Given the description of an element on the screen output the (x, y) to click on. 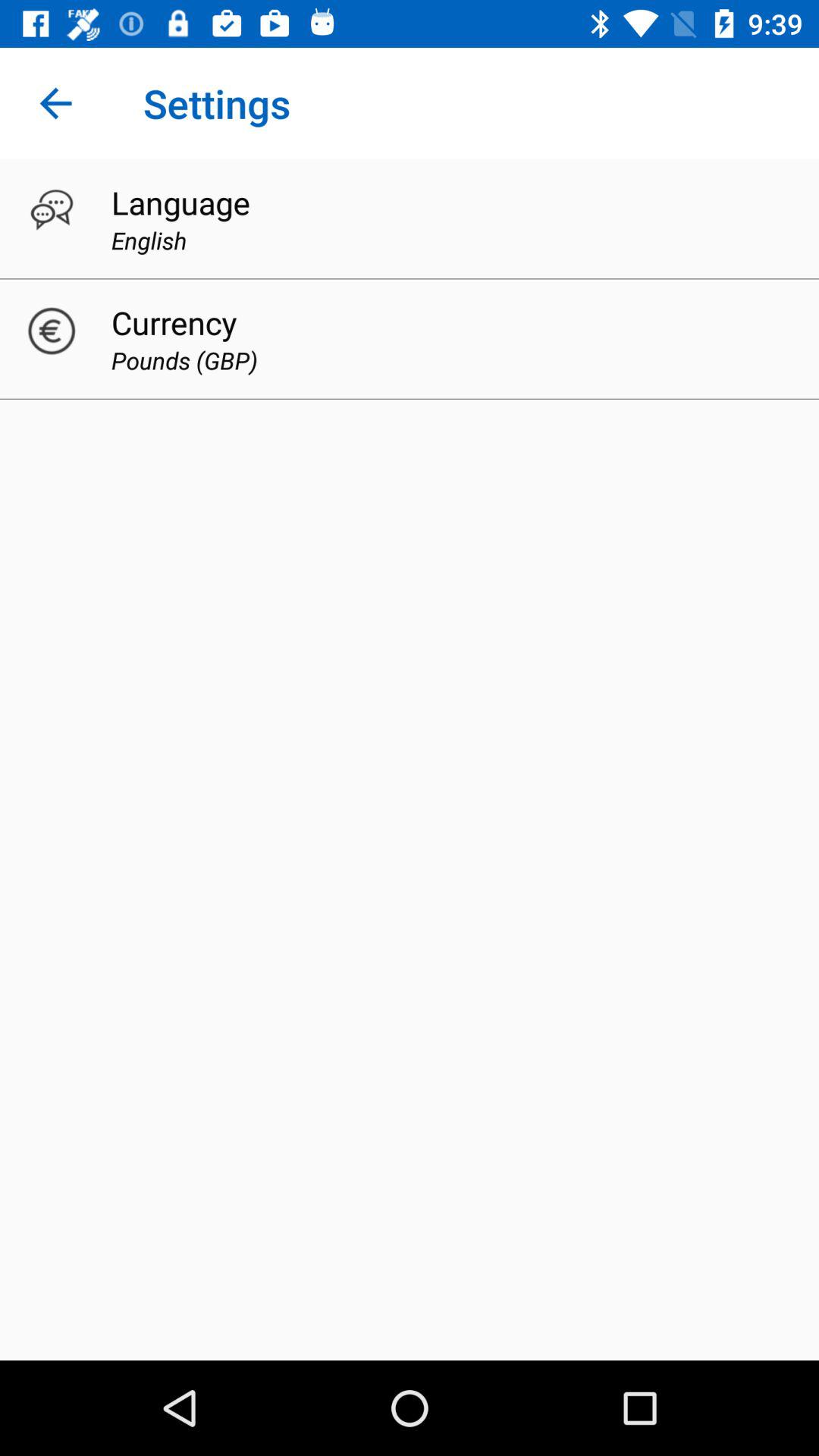
flip to the pounds (gbp) icon (184, 360)
